Given the description of an element on the screen output the (x, y) to click on. 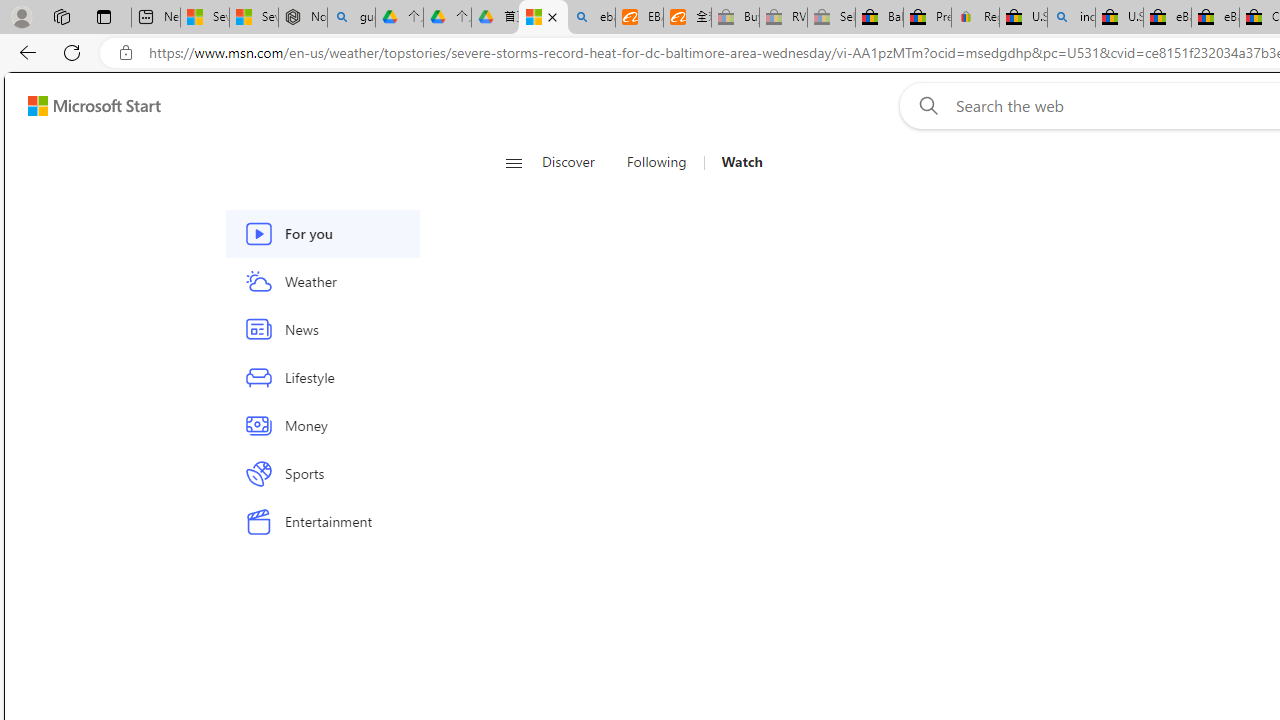
U.S. State Privacy Disclosures - eBay Inc. (1119, 17)
eBay Inc. Reports Third Quarter 2023 Results (1215, 17)
Skip to footer (82, 105)
Web search (924, 105)
Buy Auto Parts & Accessories | eBay - Sleeping (735, 17)
guge yunpan - Search (351, 17)
Open navigation menu (513, 162)
Baby Keepsakes & Announcements for sale | eBay (879, 17)
